Given the description of an element on the screen output the (x, y) to click on. 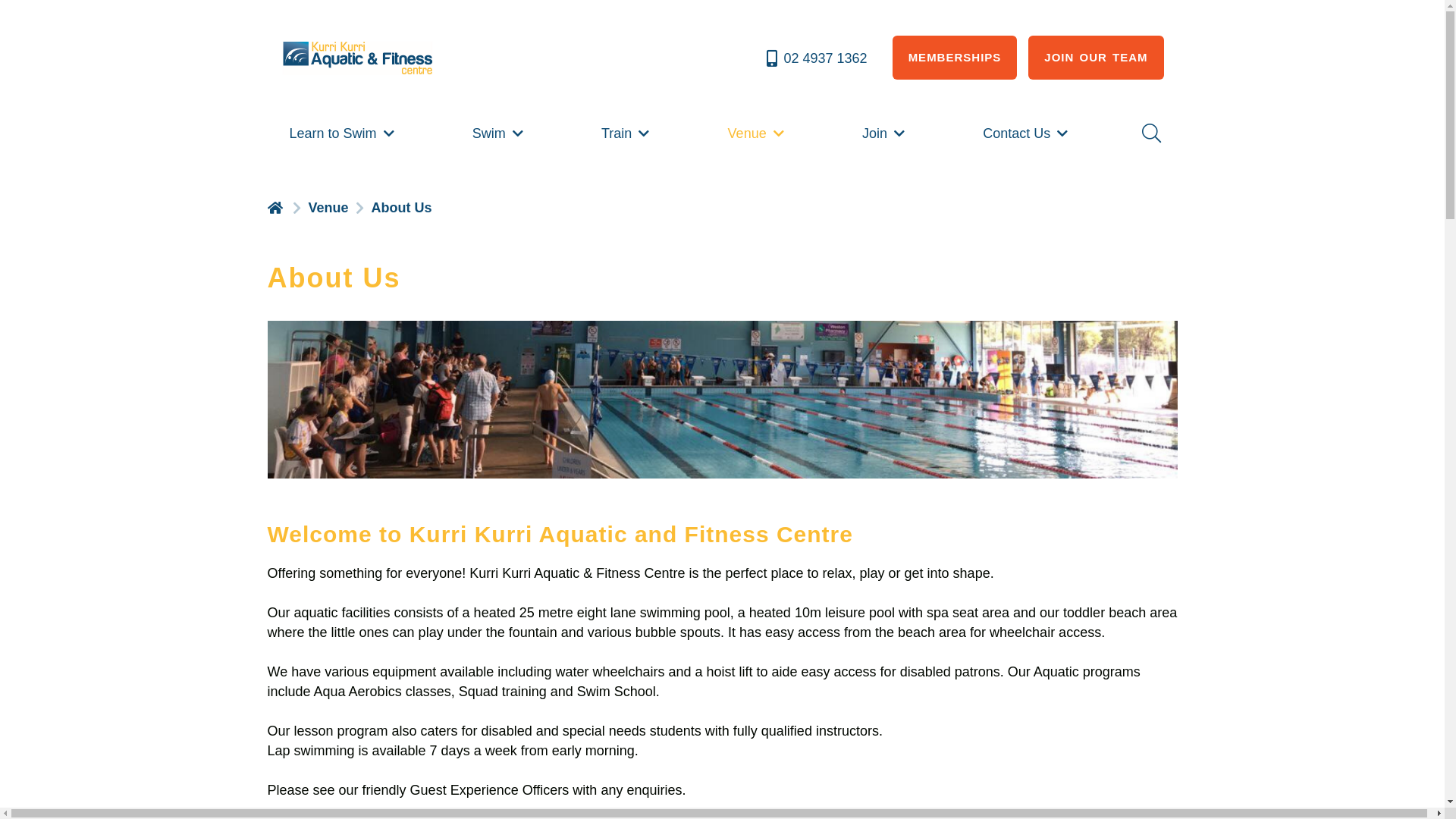
Train Element type: text (626, 133)
MEMBERSHIPS Element type: text (954, 57)
Join Element type: text (884, 133)
Venue Element type: text (757, 133)
Learn to Swim Element type: text (342, 133)
02 4937 1362 Element type: text (815, 58)
Search Element type: text (1150, 133)
Swim Element type: text (499, 133)
  Element type: text (275, 206)
Contact Us Element type: text (1026, 133)
JOIN OUR TEAM Element type: text (1095, 57)
